Given the description of an element on the screen output the (x, y) to click on. 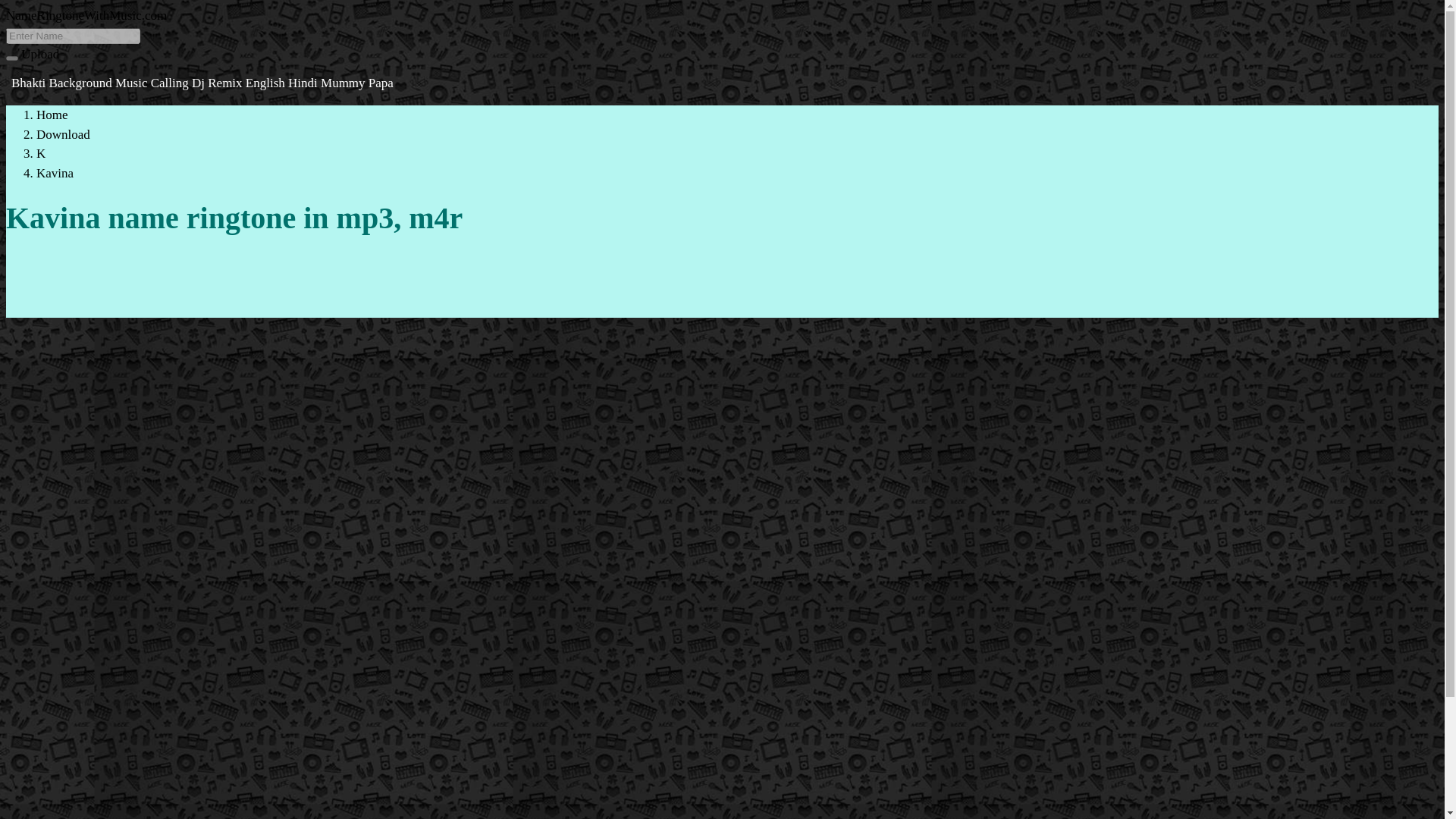
Upload (40, 53)
Download (63, 134)
Bhakti (30, 83)
Dj Remix (219, 83)
Background Music (100, 83)
fdmr (86, 15)
NameRingtoneWithMusic.com (86, 15)
English (267, 83)
Mummy Papa (356, 83)
Calling (171, 83)
